Given the description of an element on the screen output the (x, y) to click on. 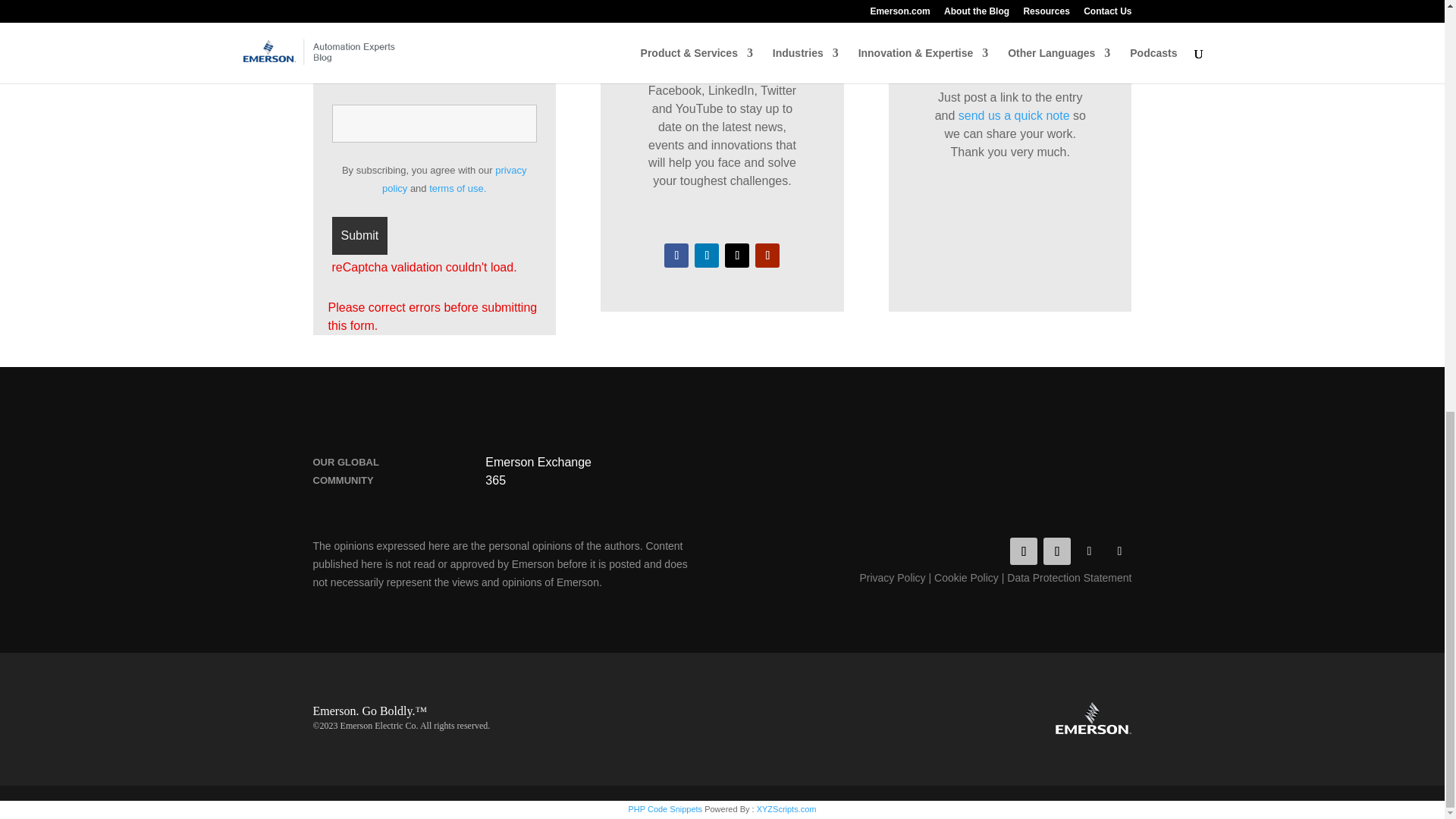
Submit (359, 235)
Follow on X (737, 255)
Follow on LinkedIn (1056, 551)
Follow on Facebook (1023, 551)
Follow on Facebook (675, 255)
Follow on X (1088, 550)
Follow on Youtube (766, 255)
Follow on Youtube (1118, 550)
Insert PHP Snippet Wordpress Plugin (664, 809)
Follow on LinkedIn (706, 255)
